Given the description of an element on the screen output the (x, y) to click on. 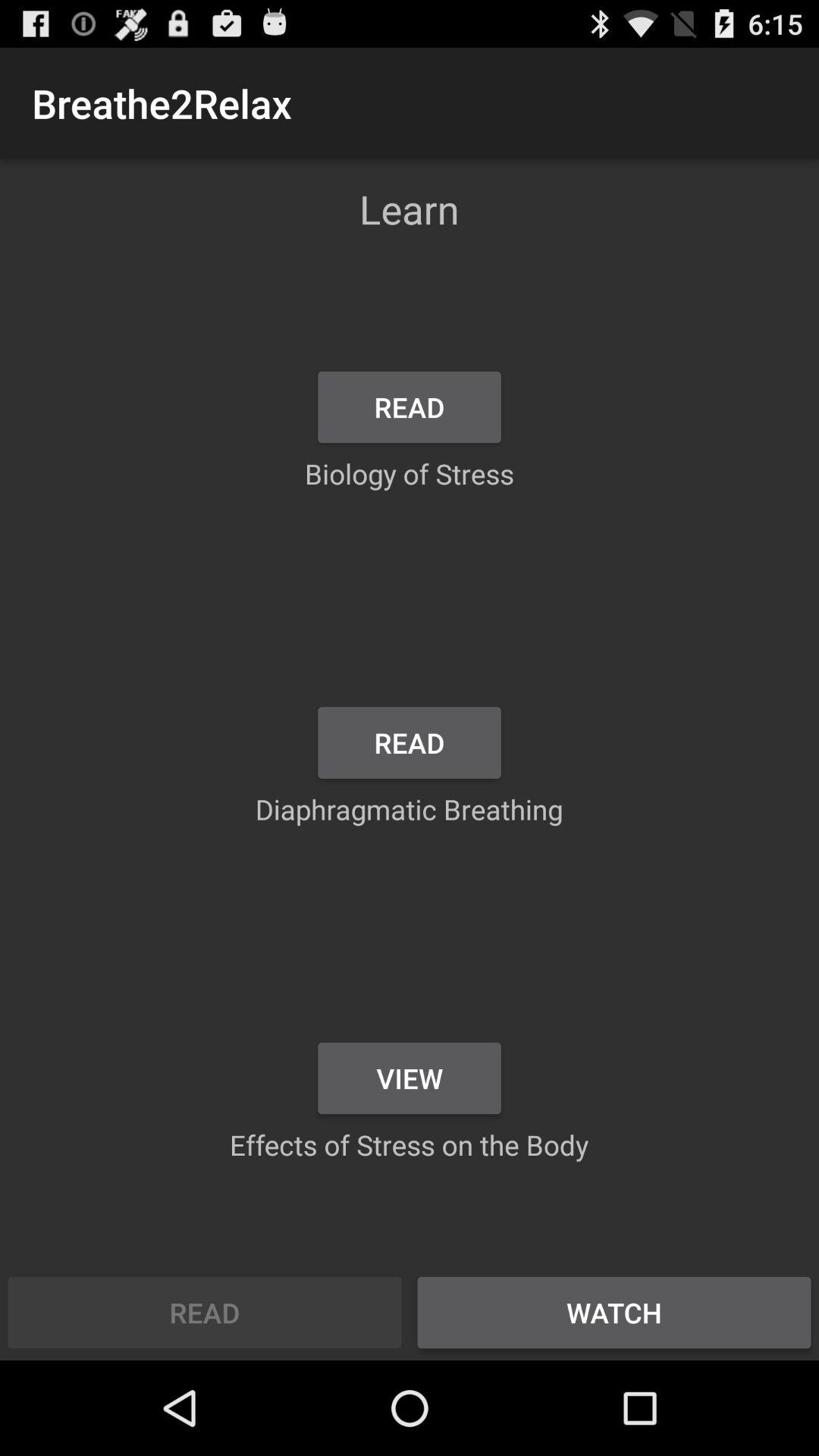
turn on the item next to the read (614, 1312)
